Given the description of an element on the screen output the (x, y) to click on. 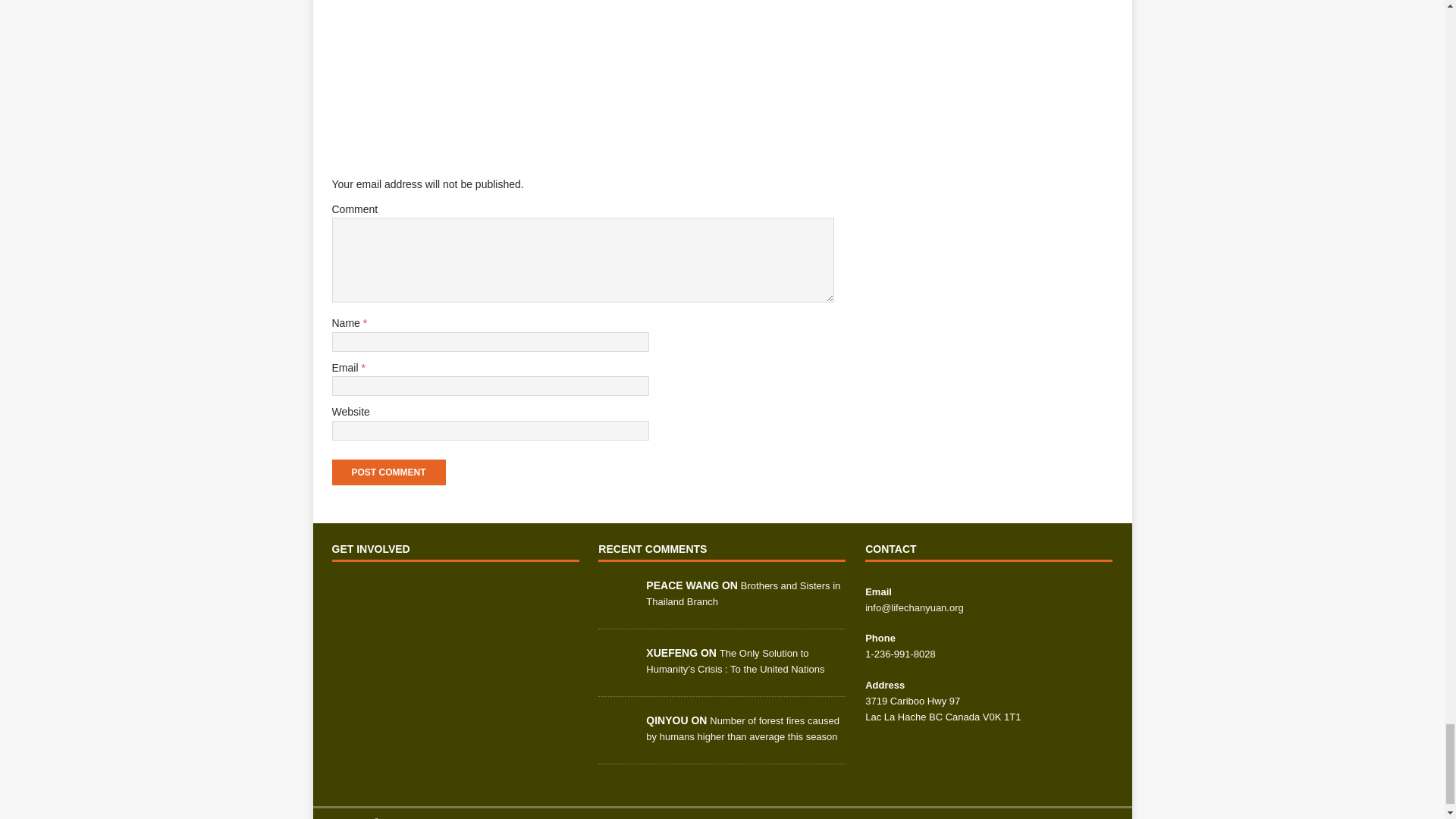
Post Comment (388, 472)
